Given the description of an element on the screen output the (x, y) to click on. 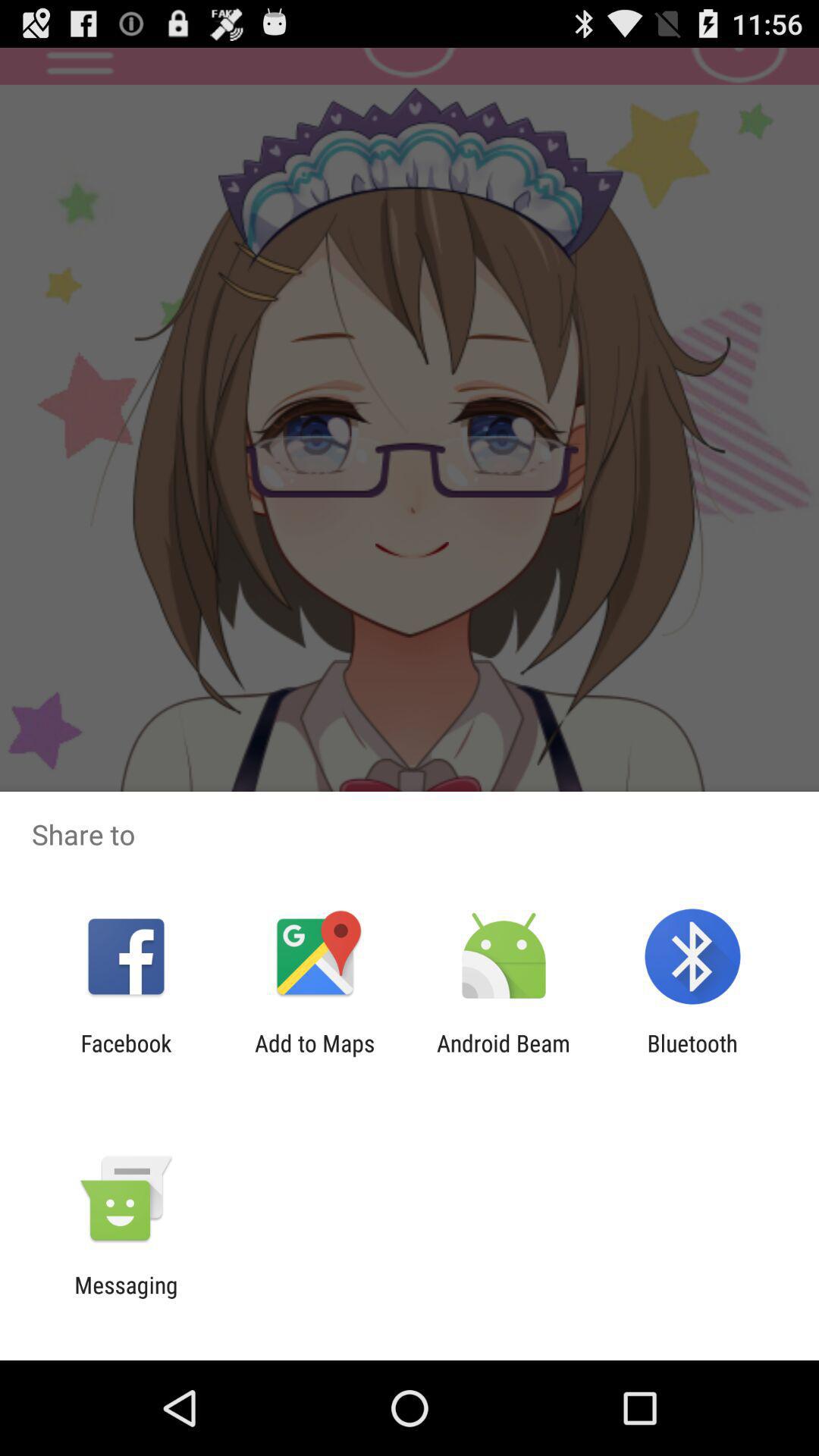
scroll until the messaging (126, 1298)
